Given the description of an element on the screen output the (x, y) to click on. 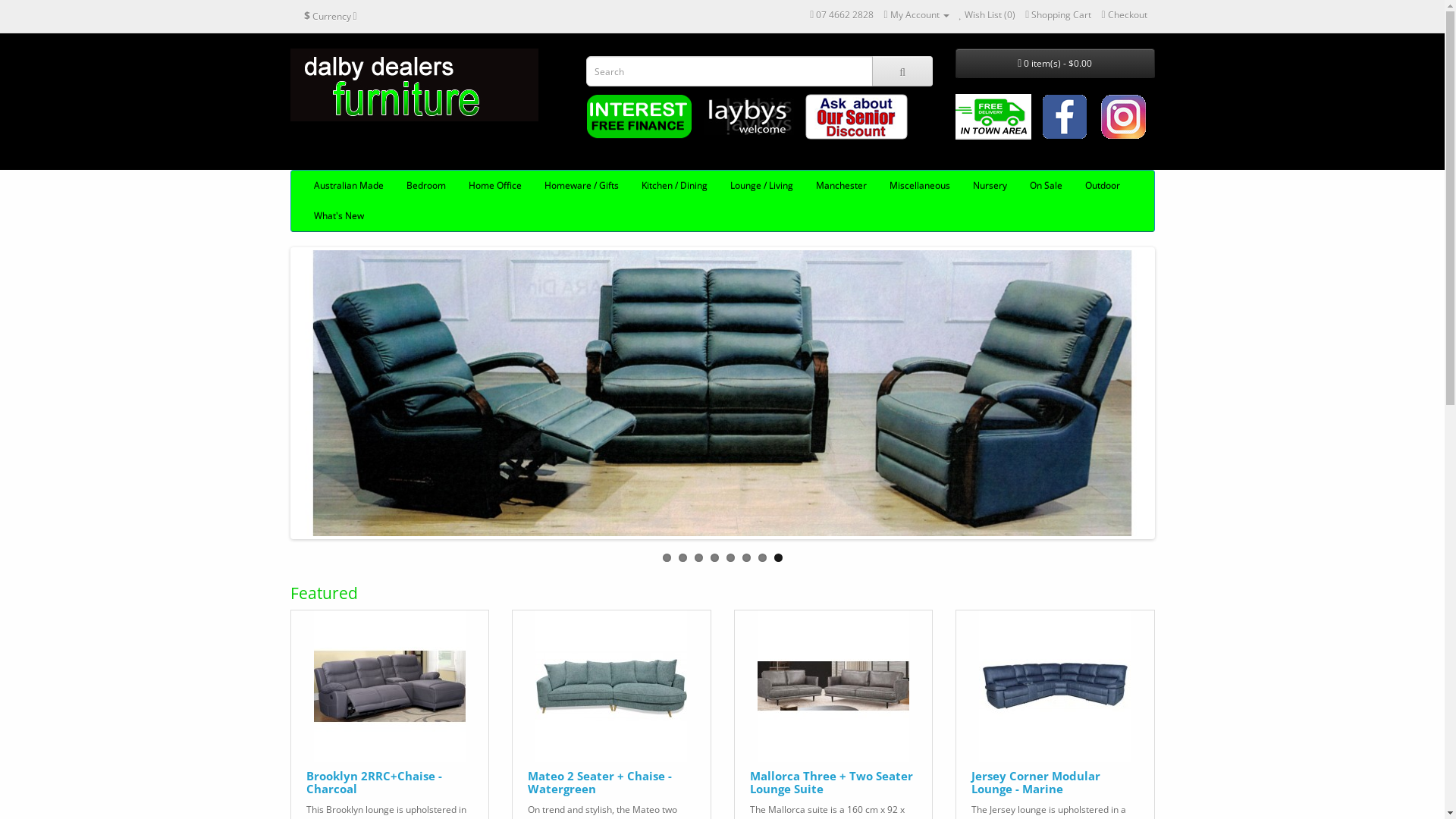
Wish List (0) Element type: text (987, 14)
Jersey Corner Modular Lounge - Marine Element type: hover (1054, 686)
What's New Element type: text (337, 215)
Mateo 2 Seater + Chaise - Watergreen Element type: hover (611, 686)
Manchester Element type: text (840, 185)
$ Currency  Element type: text (330, 15)
Dalby Dealers Furniture and Homewares Element type: hover (413, 84)
Home Office Element type: text (494, 185)
Kitchen / Dining Element type: text (673, 185)
Shopping Cart Element type: text (1058, 14)
Australian Made Element type: text (347, 185)
Homeware / Gifts Element type: text (580, 185)
Mallorca Three + Two Seater Lounge Suite Element type: text (830, 782)
Miscellaneous Element type: text (919, 185)
Nursery Element type: text (989, 185)
Brooklyn 2RRC+Chaise - Charcoal Element type: text (374, 782)
Mateo 2 Seater + Chaise - Watergreen Element type: text (599, 782)
Checkout Element type: text (1123, 14)
My Account Element type: text (915, 14)
Outdoor Element type: text (1102, 185)
Mallorca Three + Two Seater Lounge Suite Element type: hover (833, 686)
0 item(s) - $0.00 Element type: text (1054, 63)
Brooklyn 2RRC+Chaise - Charcoal Element type: hover (389, 686)
Jersey Corner Modular Lounge - Marine Element type: text (1035, 782)
Bedroom Element type: text (425, 185)
Lounge / Living Element type: text (761, 185)
On Sale Element type: text (1045, 185)
